Given the description of an element on the screen output the (x, y) to click on. 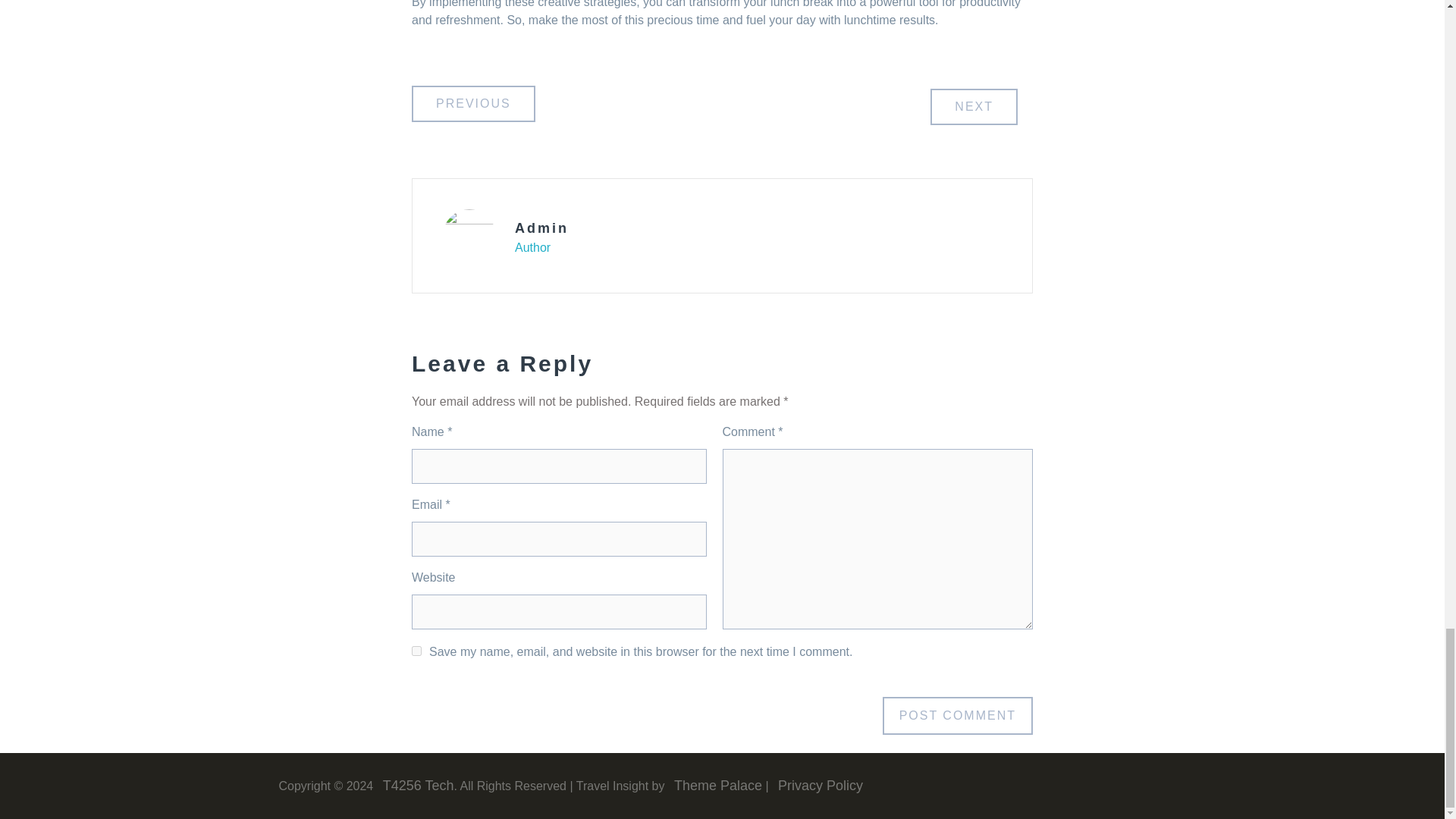
Admin (542, 227)
NEXT (973, 106)
T4256 Tech (415, 784)
PREVIOUS (473, 103)
Post Comment (957, 715)
Privacy Policy (817, 784)
Post Comment (957, 715)
Posts by admin (542, 227)
yes (417, 650)
Theme Palace (714, 784)
